Given the description of an element on the screen output the (x, y) to click on. 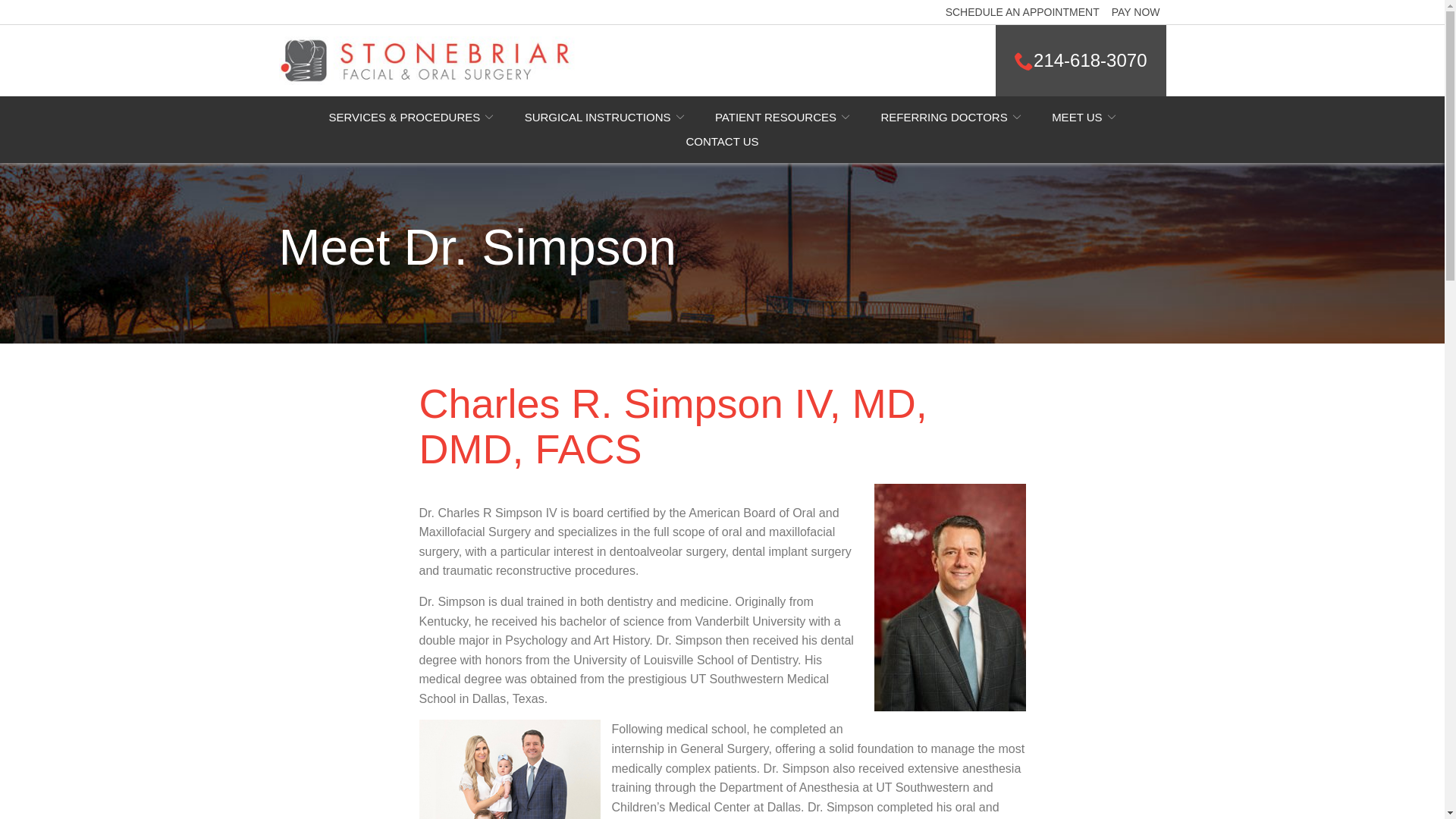
PAY NOW (1136, 12)
SCHEDULE AN APPOINTMENT (1021, 12)
Family Photo of Dr. Charles R Simpson IV (509, 769)
